Given the description of an element on the screen output the (x, y) to click on. 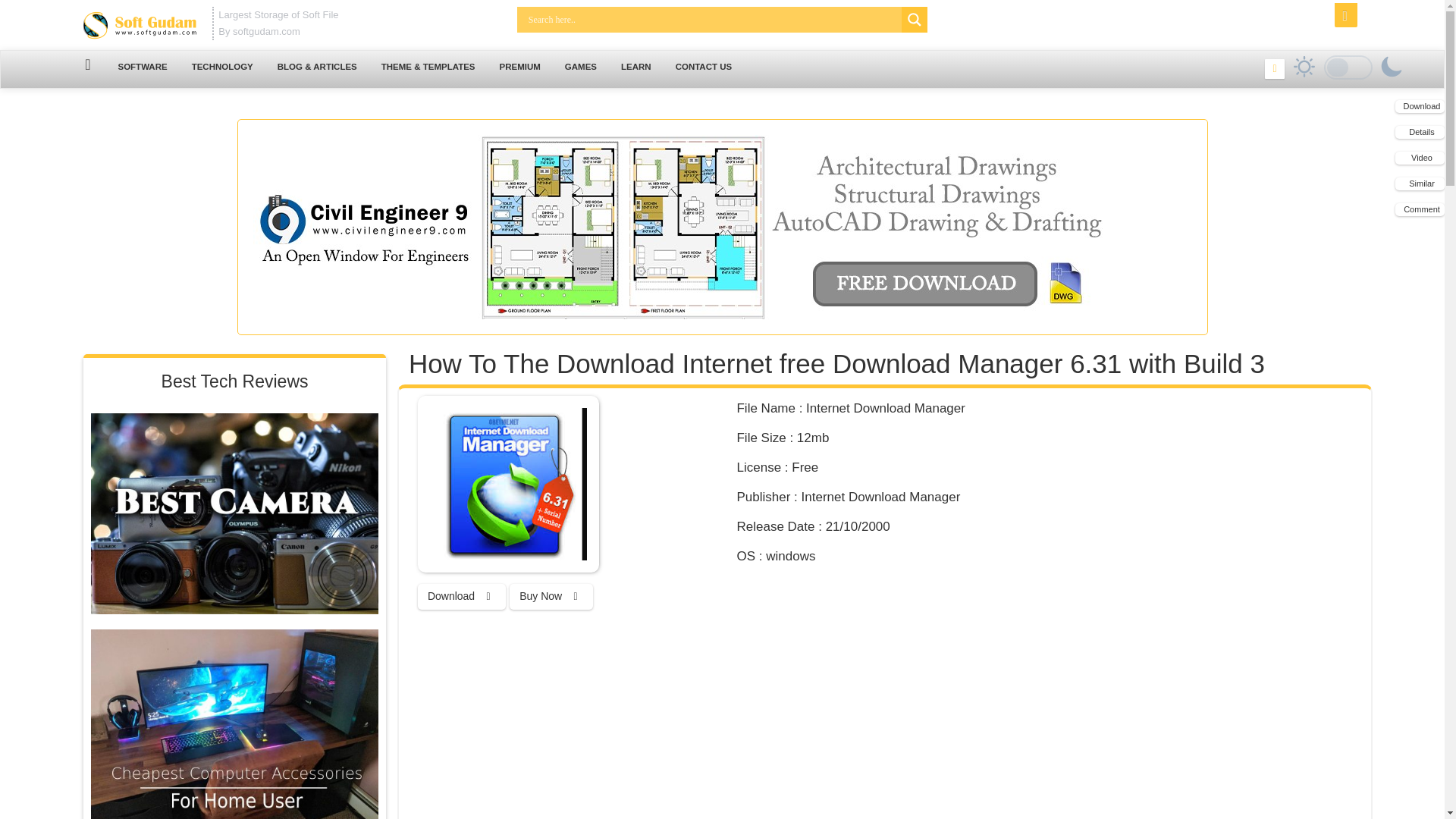
SOFTWARE (141, 66)
PREMIUM (520, 66)
Open (1345, 15)
TECHNOLOGY (221, 66)
CONTACT US (703, 66)
GAMES (580, 66)
LEARN (635, 66)
